Given the description of an element on the screen output the (x, y) to click on. 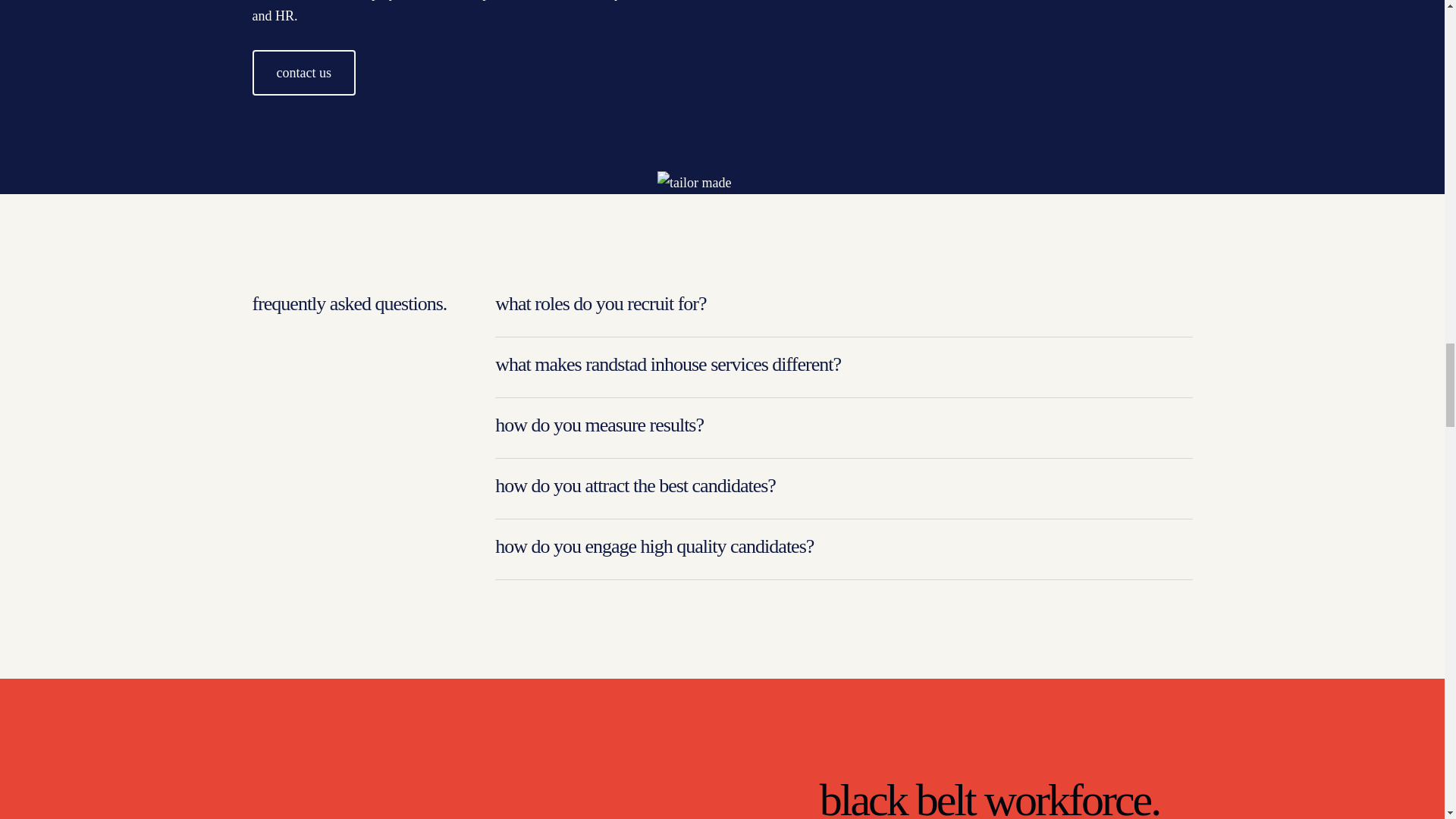
tailor made (694, 182)
